Given the description of an element on the screen output the (x, y) to click on. 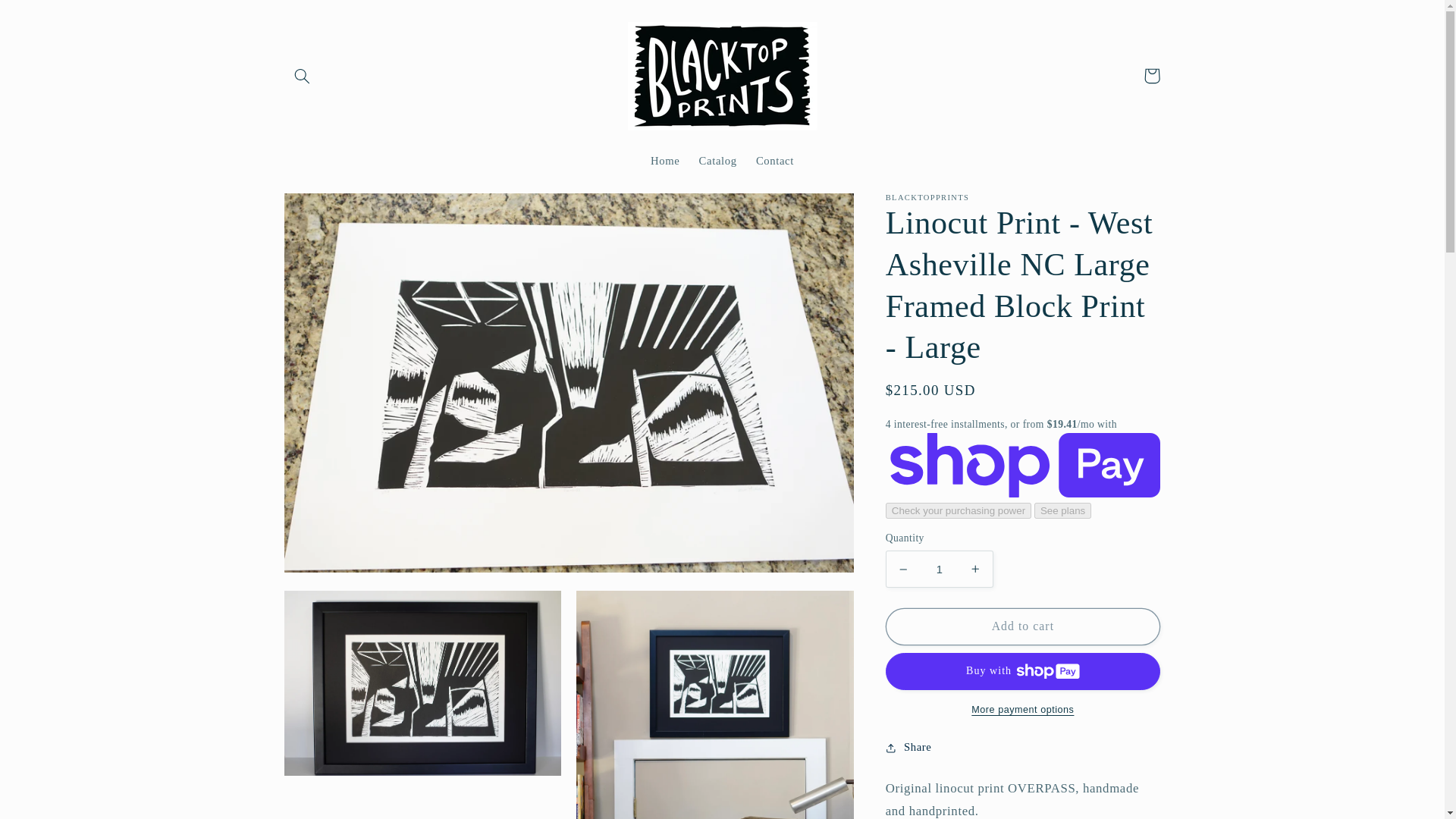
Skip to product information (331, 211)
Contact (774, 161)
Home (664, 161)
Cart (1151, 75)
Skip to content (48, 18)
Catalog (716, 161)
Add to cart (1022, 626)
1 (939, 569)
